Given the description of an element on the screen output the (x, y) to click on. 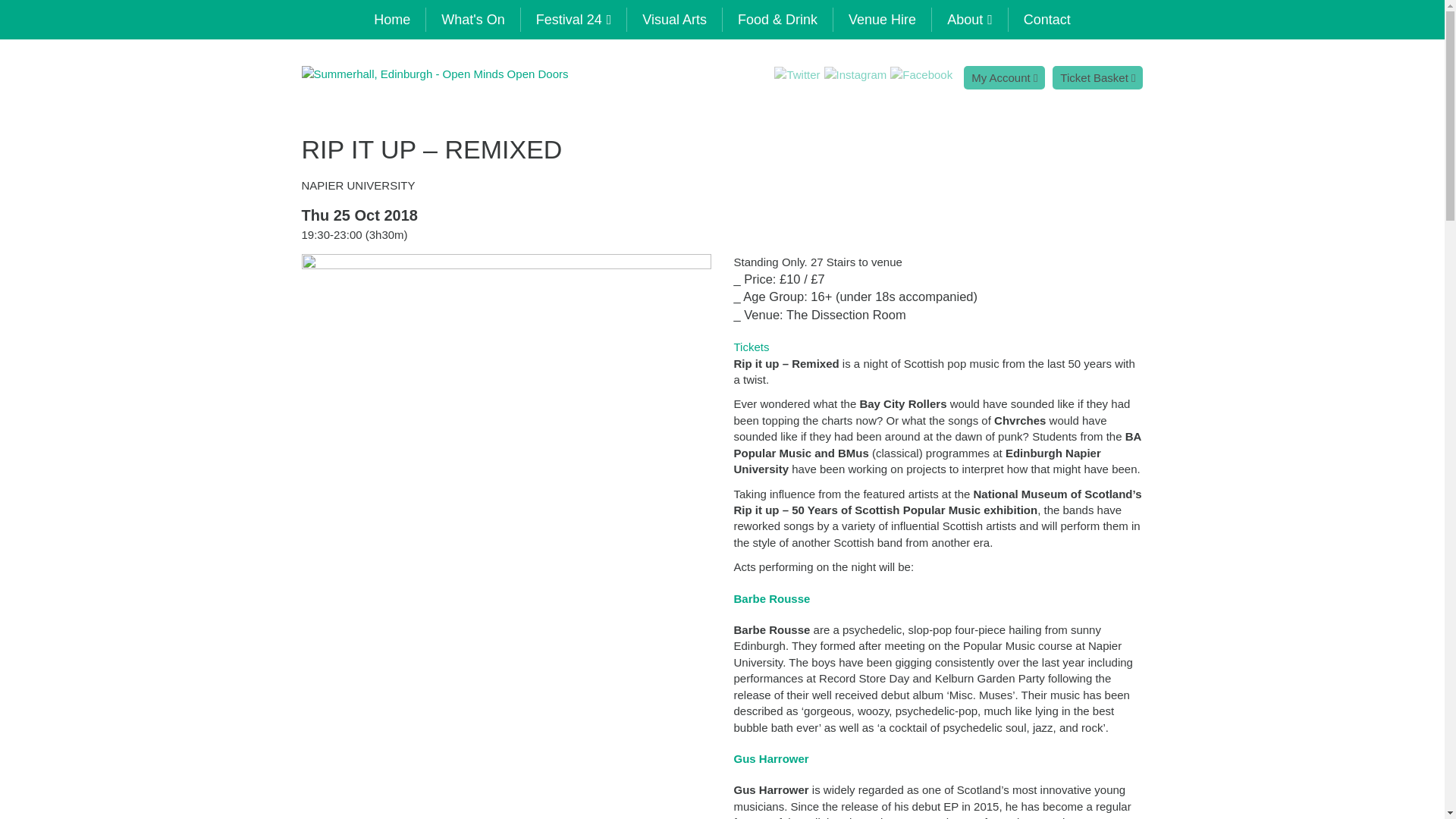
Festival 24 (568, 19)
Gus Harrower (771, 758)
Tickets (751, 346)
Book Tickets (751, 346)
Barbe Rousse (771, 598)
Twitter (799, 74)
My Account (1004, 77)
Instagram (855, 74)
Facebook (922, 74)
Contact (1041, 19)
Visual Arts (668, 19)
About (963, 19)
Instagram (857, 74)
Ticket Basket (1097, 77)
Home (385, 19)
